Given the description of an element on the screen output the (x, y) to click on. 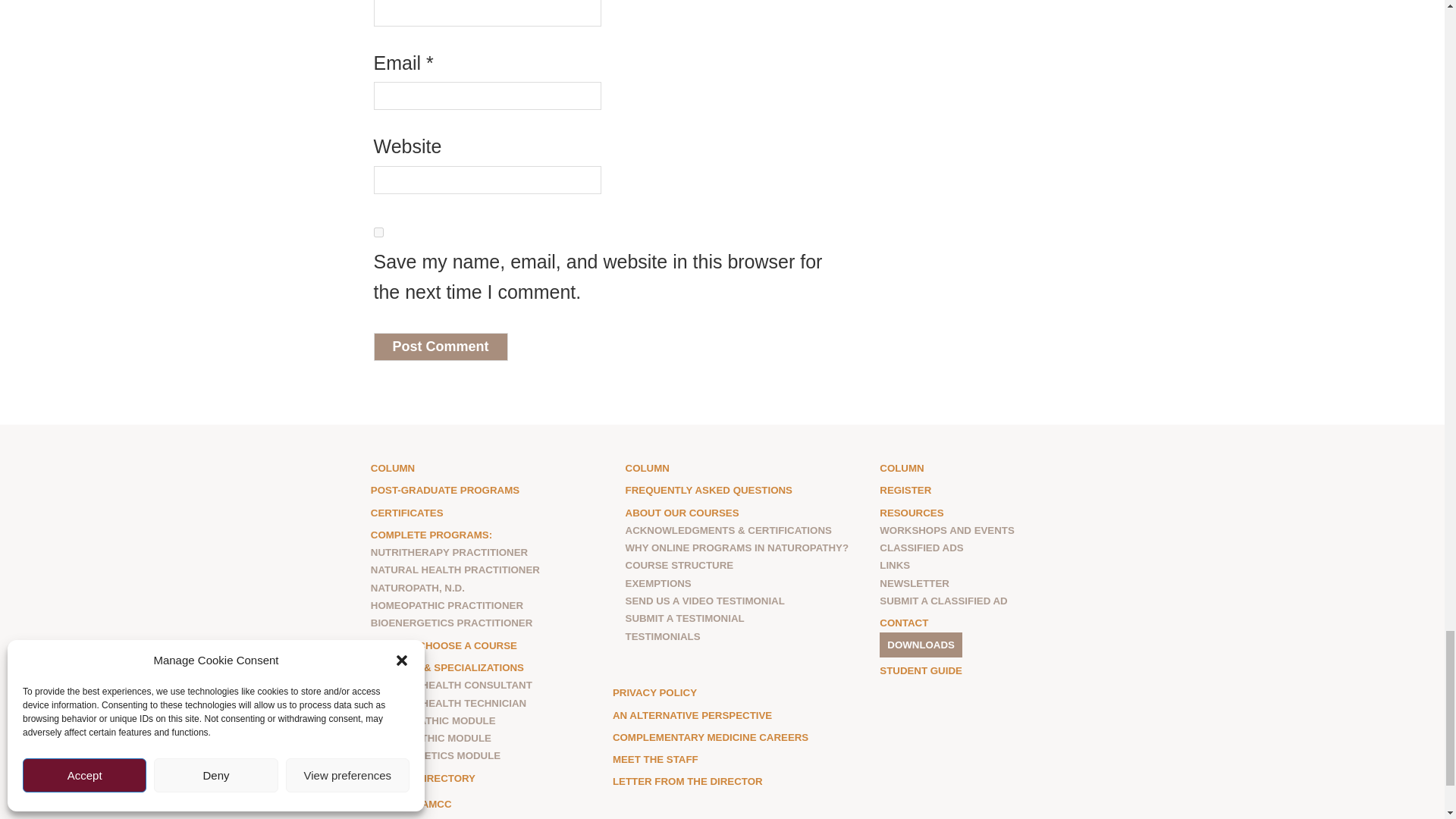
yes (377, 232)
Post Comment (439, 346)
